Given the description of an element on the screen output the (x, y) to click on. 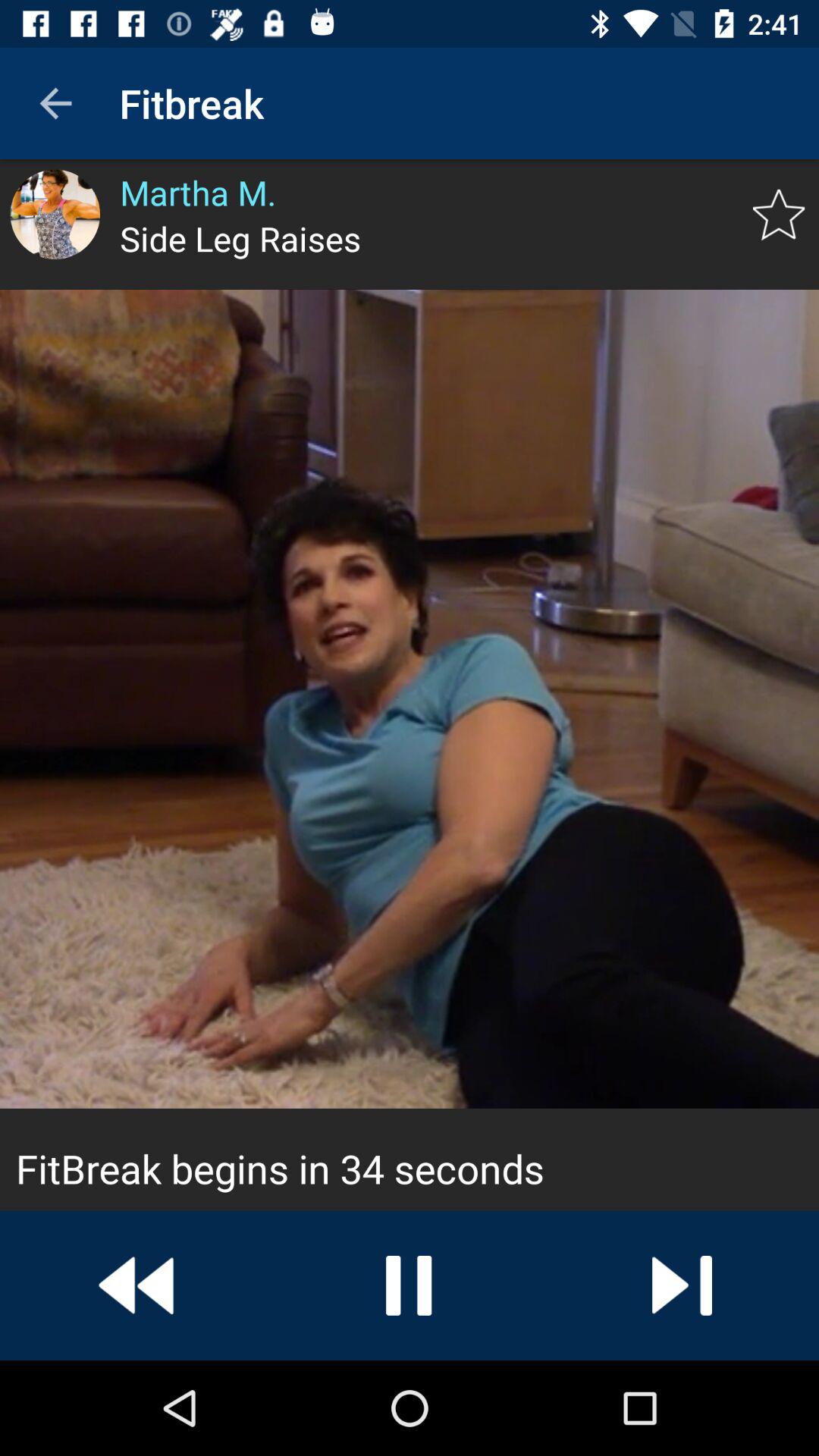
choose favorite option (778, 215)
